Given the description of an element on the screen output the (x, y) to click on. 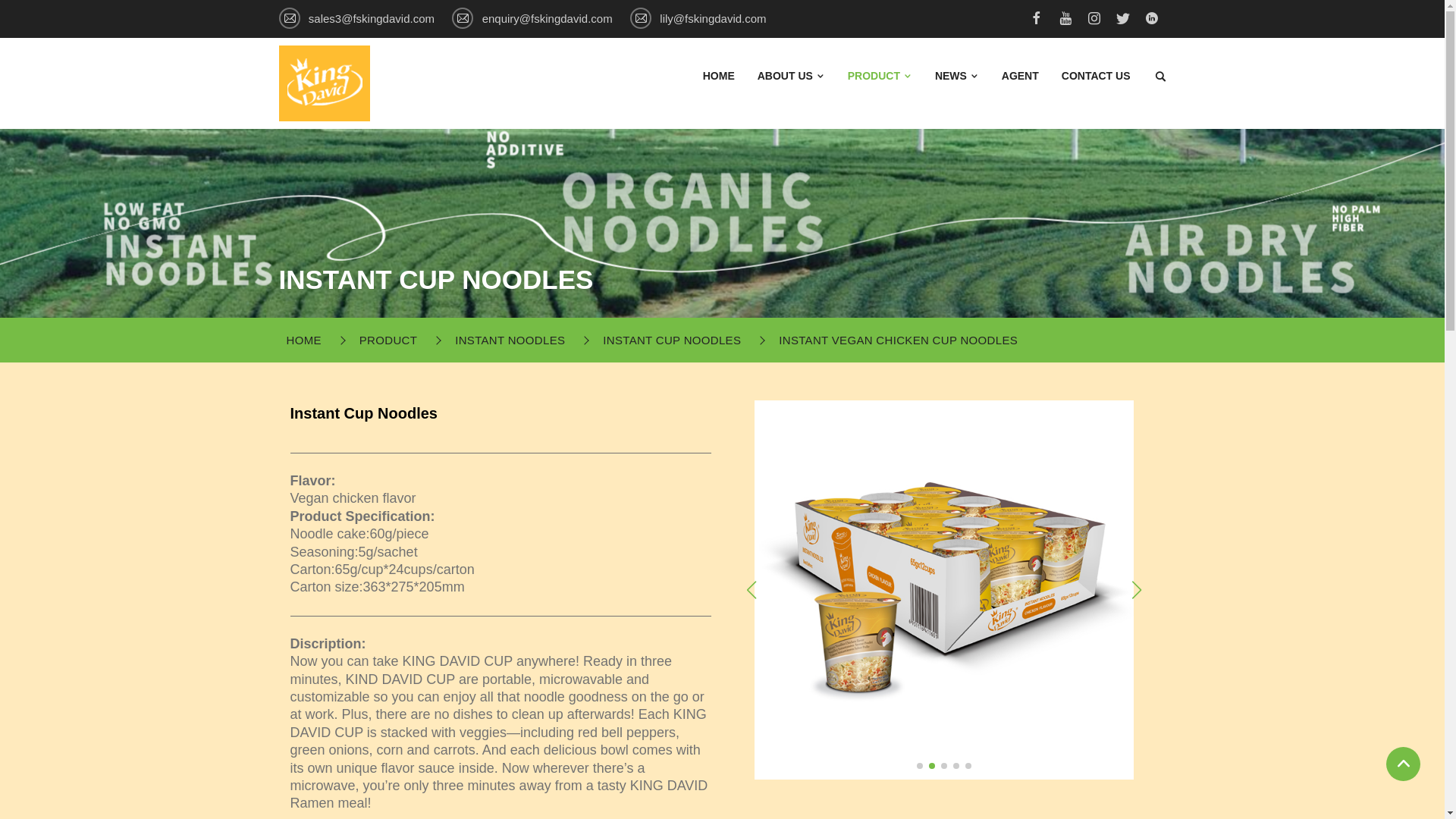
Facebook (1036, 20)
ABOUT US (791, 75)
ABOUT US (791, 75)
Instagram (1093, 20)
Youtube (1064, 20)
Twitter (1122, 20)
LinkedIn (1151, 20)
CONTACT US (1096, 75)
